Given the description of an element on the screen output the (x, y) to click on. 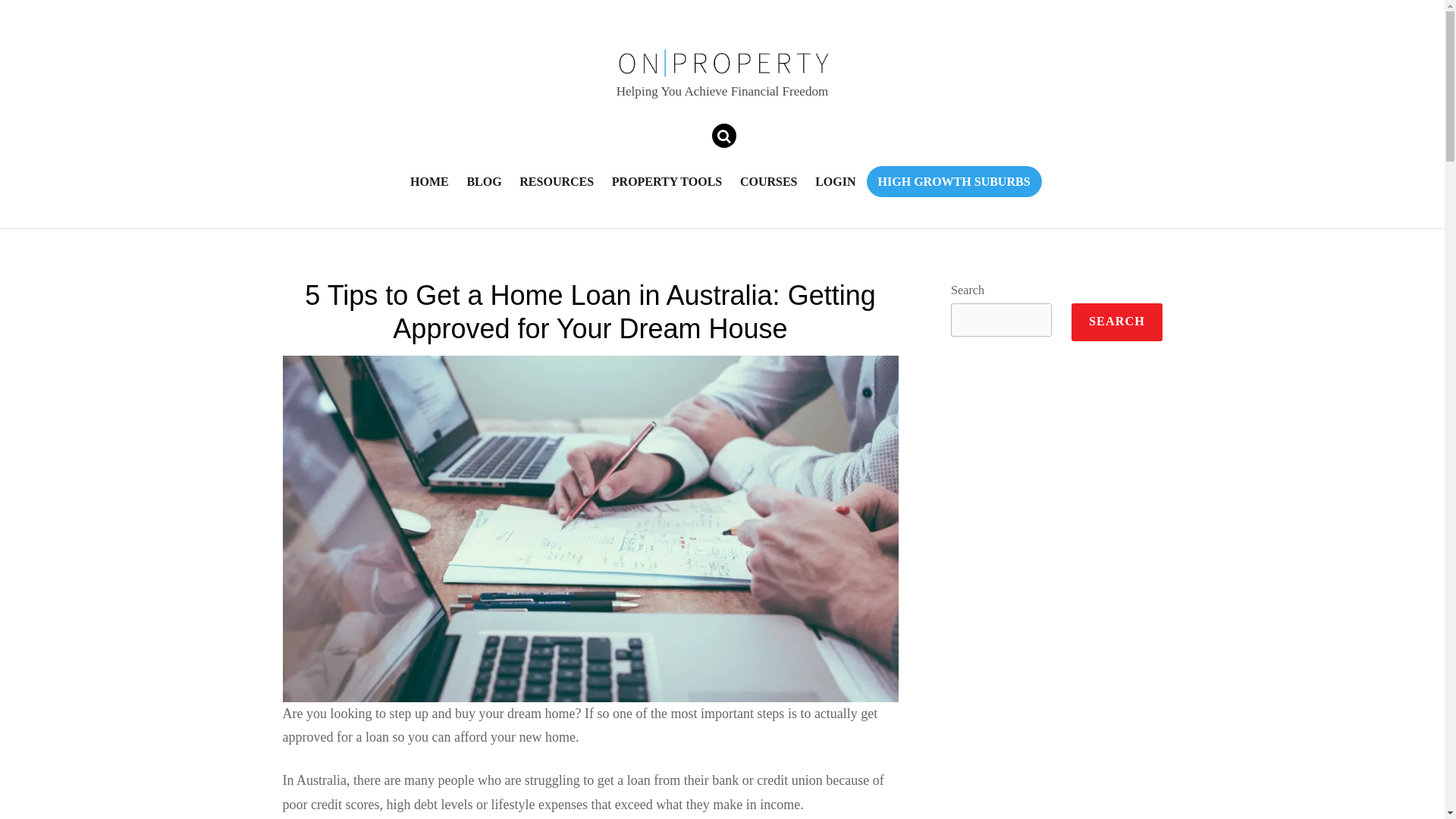
On Property (721, 63)
COURSES (768, 181)
RESOURCES (556, 181)
On Property (721, 69)
Search (730, 135)
HOME (429, 181)
PROPERTY TOOLS (666, 181)
LOGIN (835, 181)
BLOG (484, 181)
SEARCH (1116, 322)
